Given the description of an element on the screen output the (x, y) to click on. 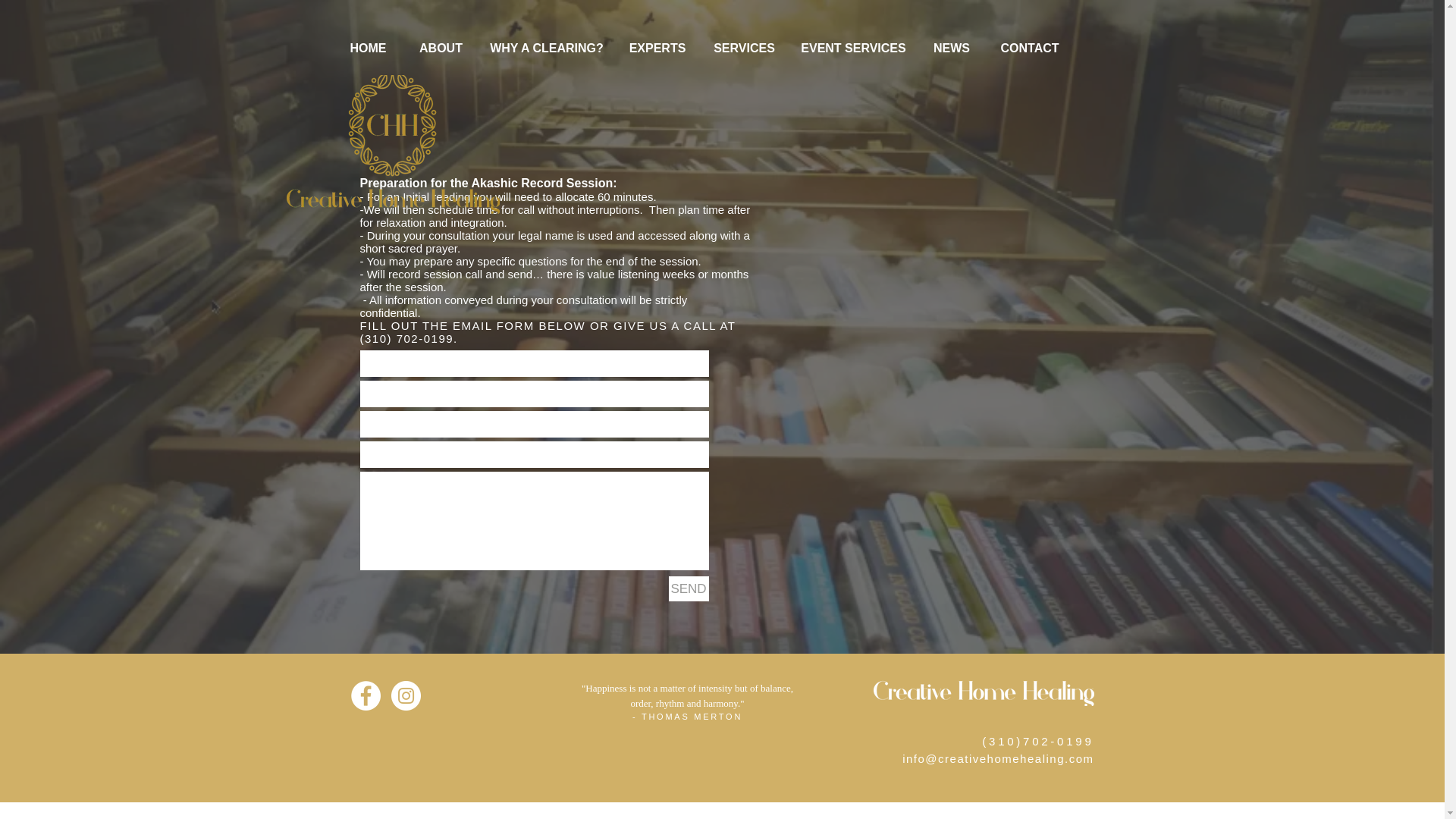
SEND (688, 588)
EVENT SERVICES (853, 48)
ABOUT (440, 48)
HOME (367, 48)
WHY A CLEARING? (545, 48)
SERVICES (743, 48)
NEWS (951, 48)
CONTACT (1029, 48)
